Given the description of an element on the screen output the (x, y) to click on. 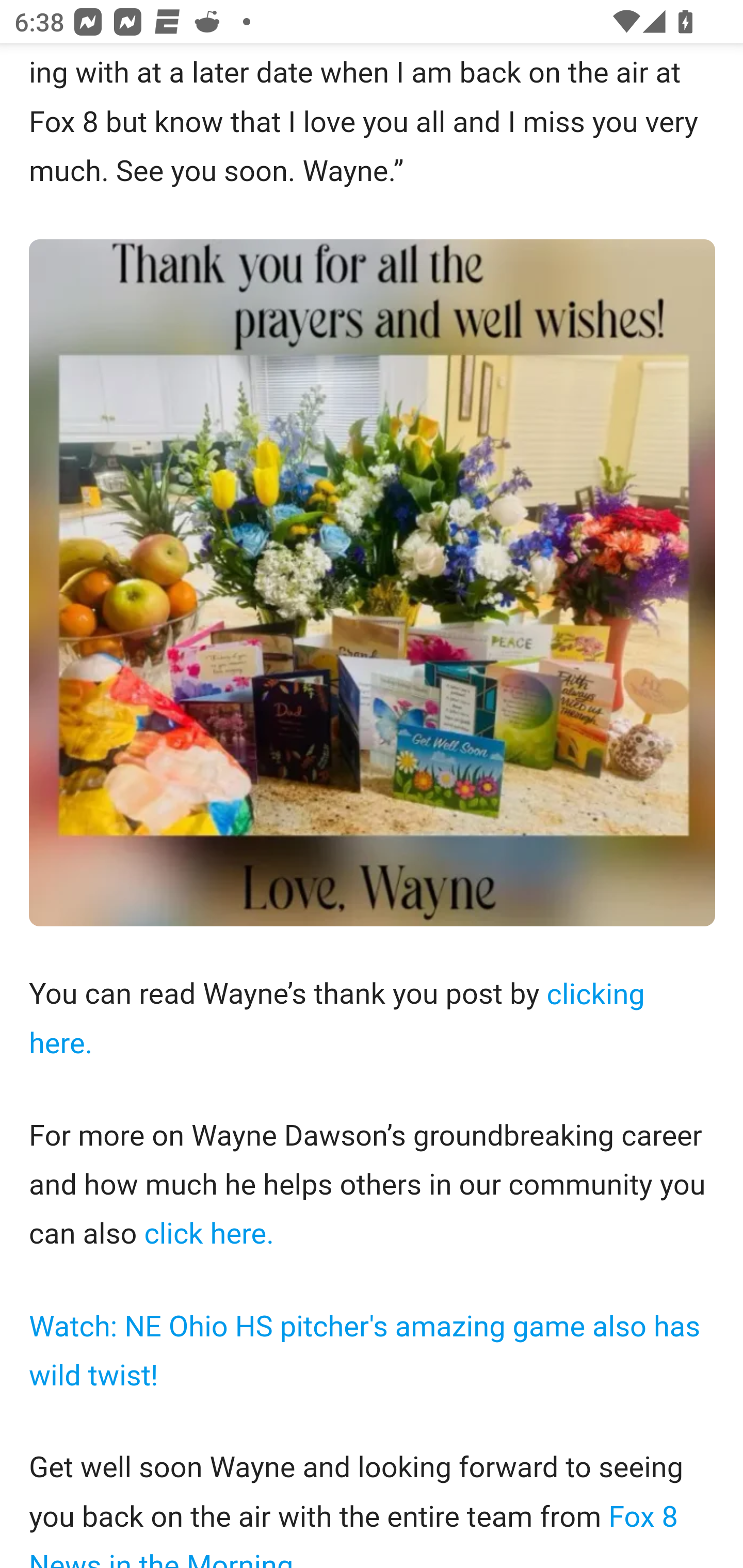
clicking here. (337, 1018)
 click here. (204, 1233)
Fox 8 News in the Morning. (353, 1531)
